Given the description of an element on the screen output the (x, y) to click on. 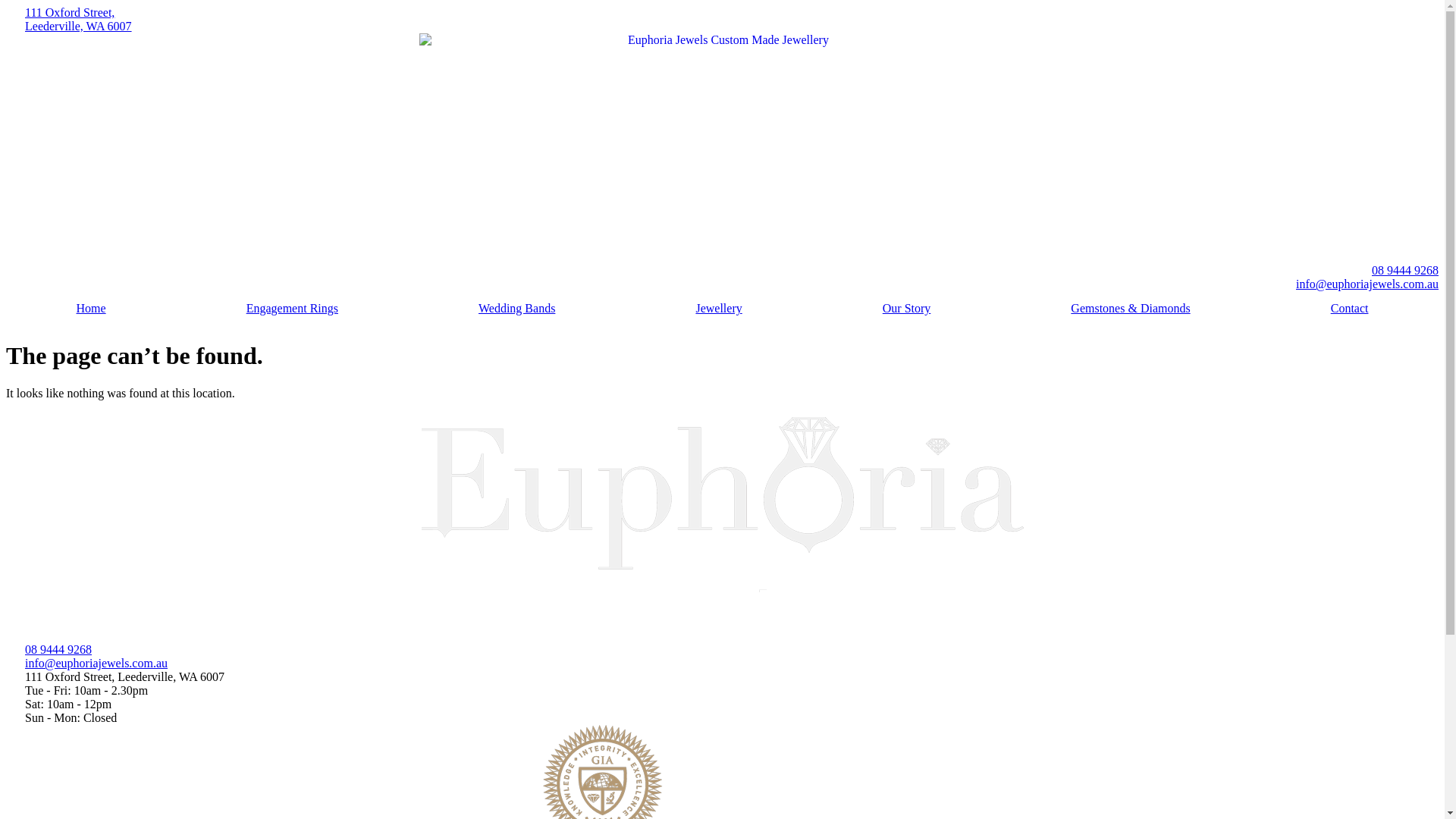
Wedding Bands Element type: text (515, 308)
Contact Element type: text (1349, 308)
08 9444 9268 Element type: text (722, 270)
Engagement Rings Element type: text (291, 308)
Home Element type: text (90, 308)
Our Story Element type: text (906, 308)
08 9444 9268 Element type: text (722, 649)
info@euphoriajewels.com.au Element type: text (722, 284)
info@euphoriajewels.com.au Element type: text (722, 663)
Skip to content Element type: text (5, 5)
111 Oxford Street,
Leederville, WA 6007 Element type: text (722, 19)
Jewellery Element type: text (718, 308)
Gemstones & Diamonds Element type: text (1130, 308)
